Given the description of an element on the screen output the (x, y) to click on. 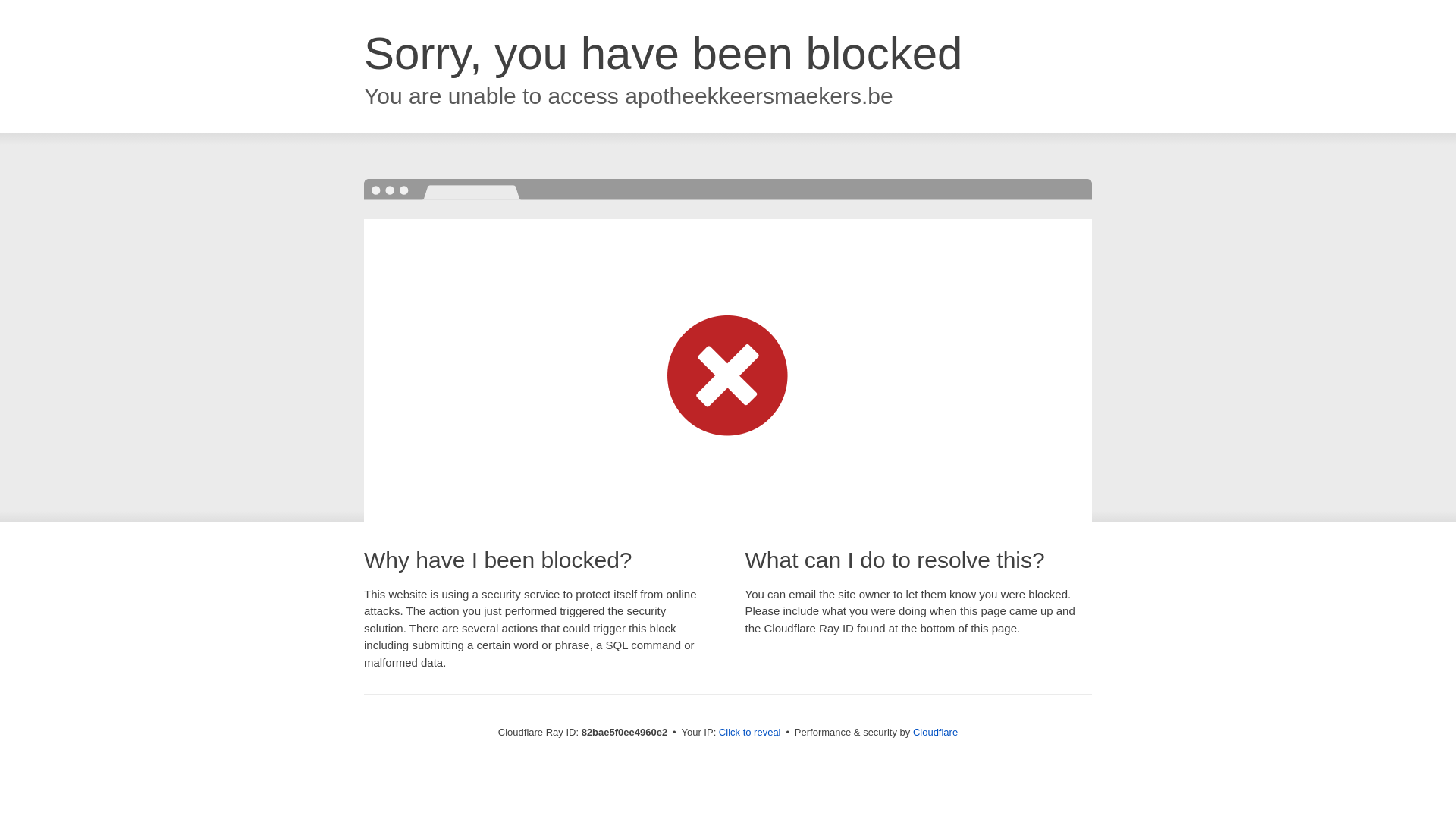
Click to reveal Element type: text (749, 732)
Cloudflare Element type: text (935, 731)
